Given the description of an element on the screen output the (x, y) to click on. 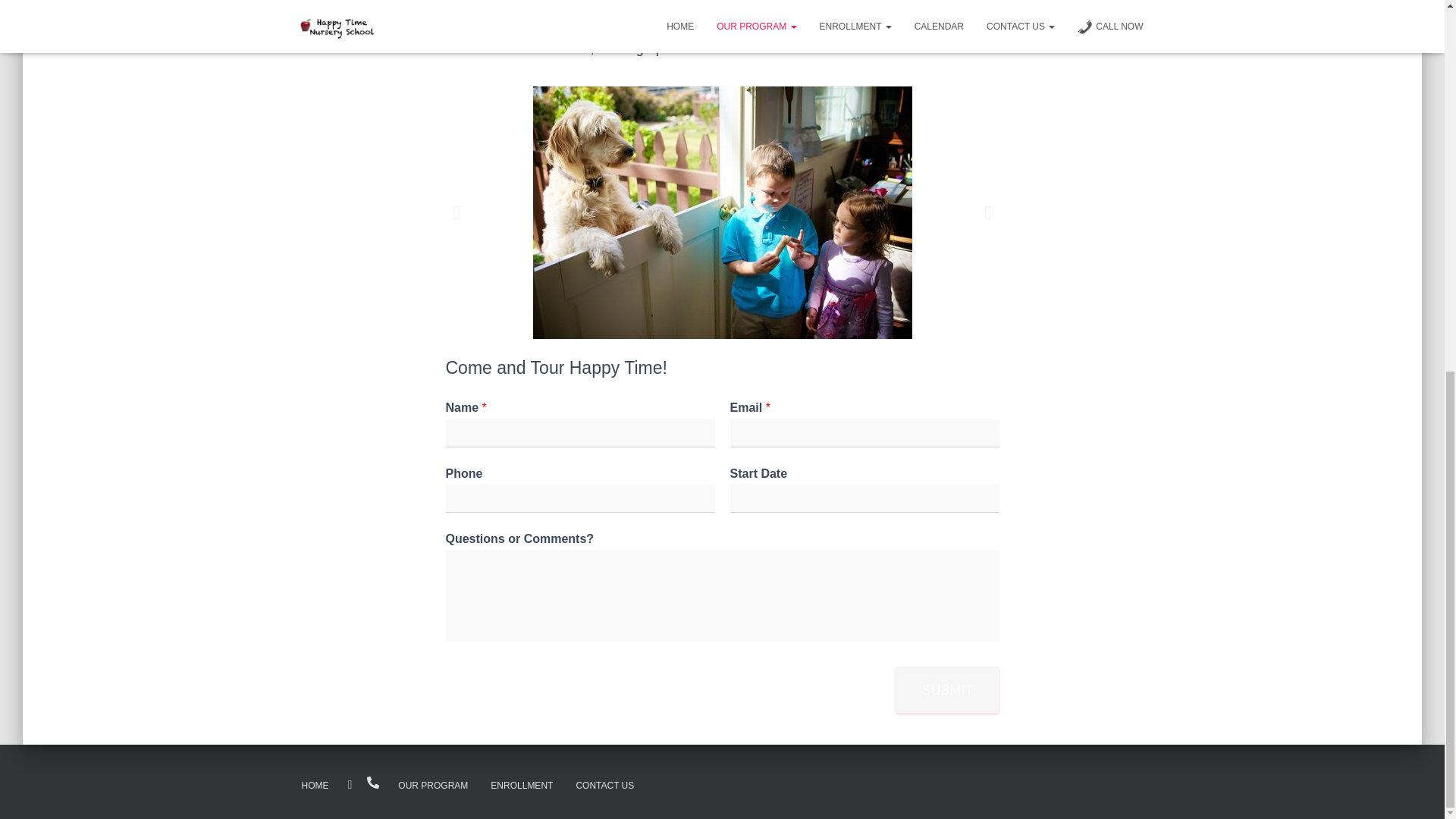
CALL (373, 782)
CONTACT US (604, 785)
OUR PROGRAM (433, 785)
ENROLLMENT (521, 785)
SUBMIT (946, 690)
HOME (314, 785)
